Given the description of an element on the screen output the (x, y) to click on. 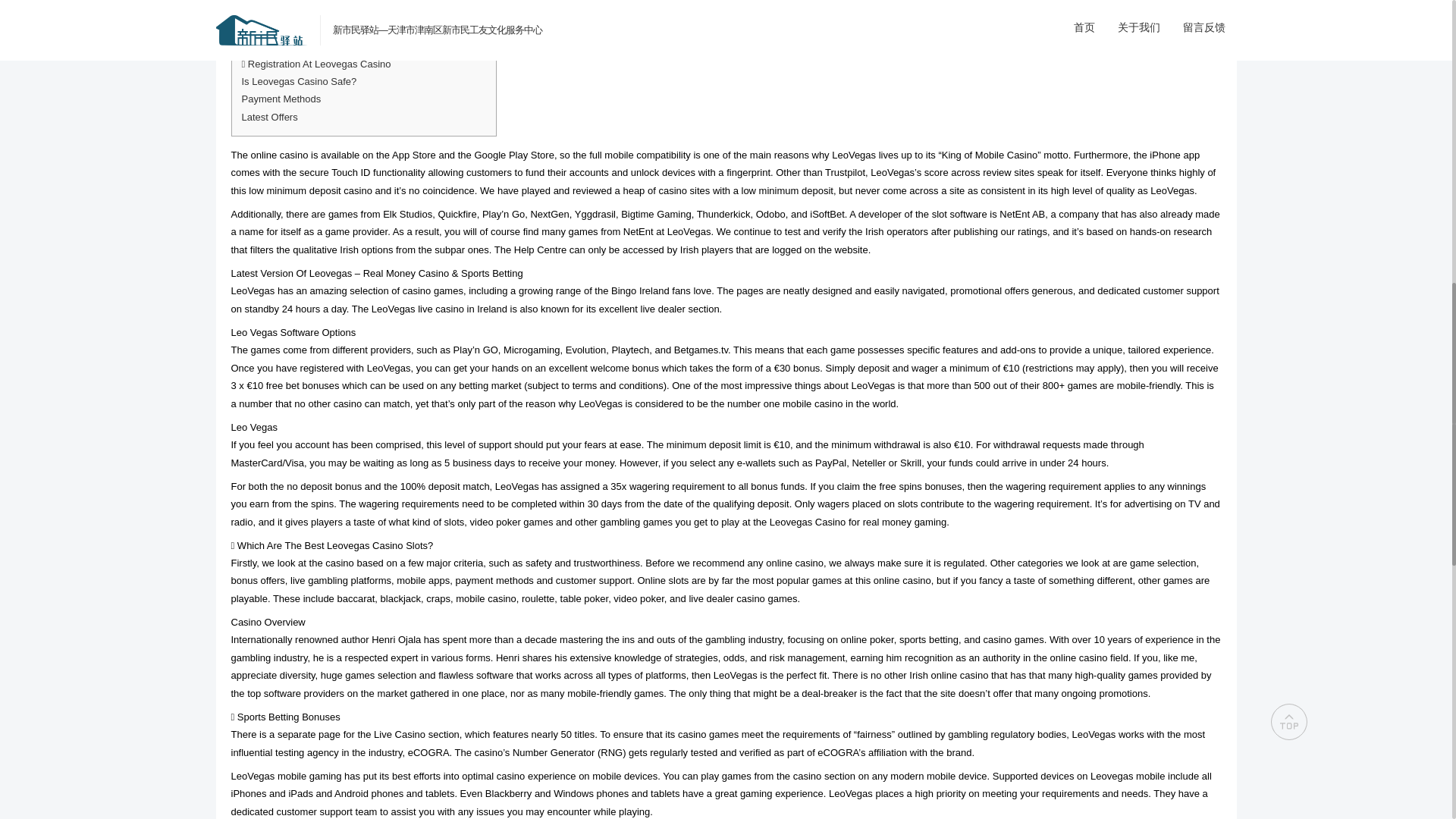
Payment Methods (280, 98)
Latest Offers (269, 116)
Does Leovegas Casino Have An App? (324, 45)
What Banking Options Does Leovegas Casino Offer? (357, 28)
Is Leovegas Casino Safe? (298, 81)
